Given the description of an element on the screen output the (x, y) to click on. 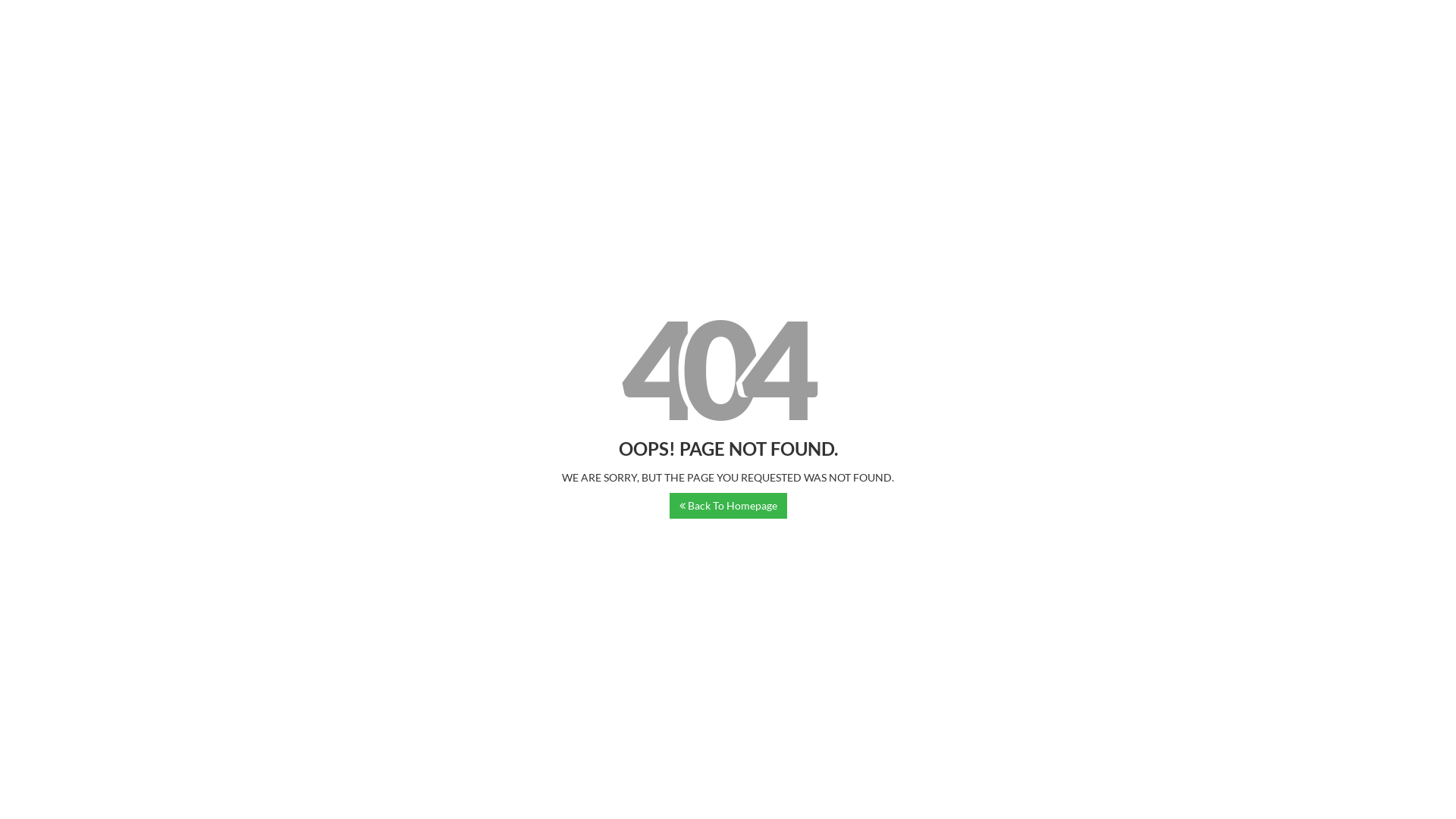
Back To Homepage Element type: text (727, 505)
